Given the description of an element on the screen output the (x, y) to click on. 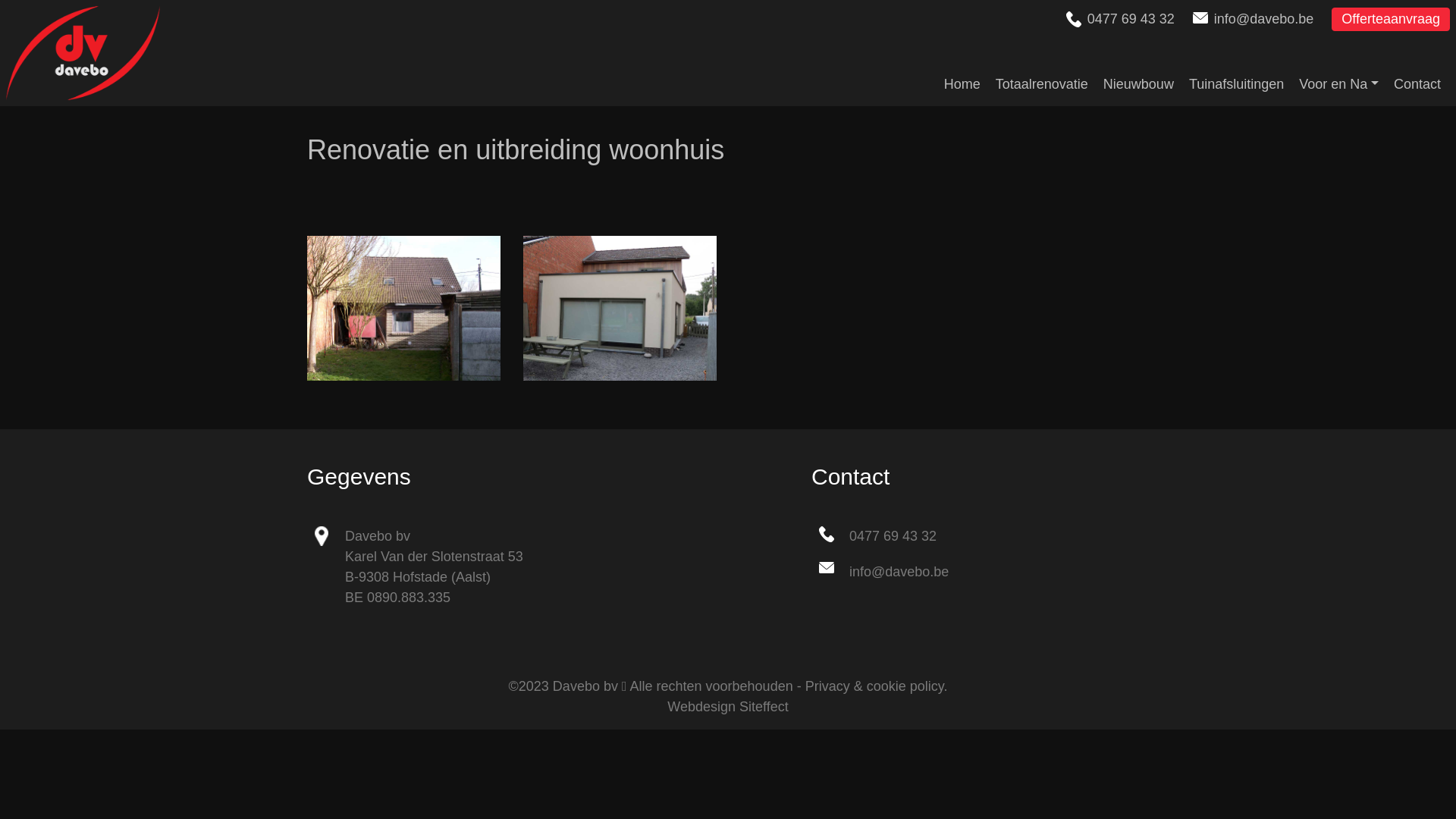
Totaalrenovatie Element type: text (1049, 76)
  Element type: hover (403, 307)
Nieuwbouw Element type: text (1146, 76)
Privacy & cookie policy Element type: text (874, 685)
0477 69 43 32 Element type: text (1130, 18)
Voor en Na Element type: text (1346, 76)
  Element type: hover (619, 307)
info@davebo.be Element type: text (898, 571)
Offerteaanvraag Element type: text (1390, 19)
0477 69 43 32 Element type: text (892, 535)
Webdesign Siteffect Element type: text (727, 706)
info@davebo.be Element type: text (1263, 18)
Home Element type: text (969, 76)
Tuinafsluitingen Element type: text (1244, 76)
